Given the description of an element on the screen output the (x, y) to click on. 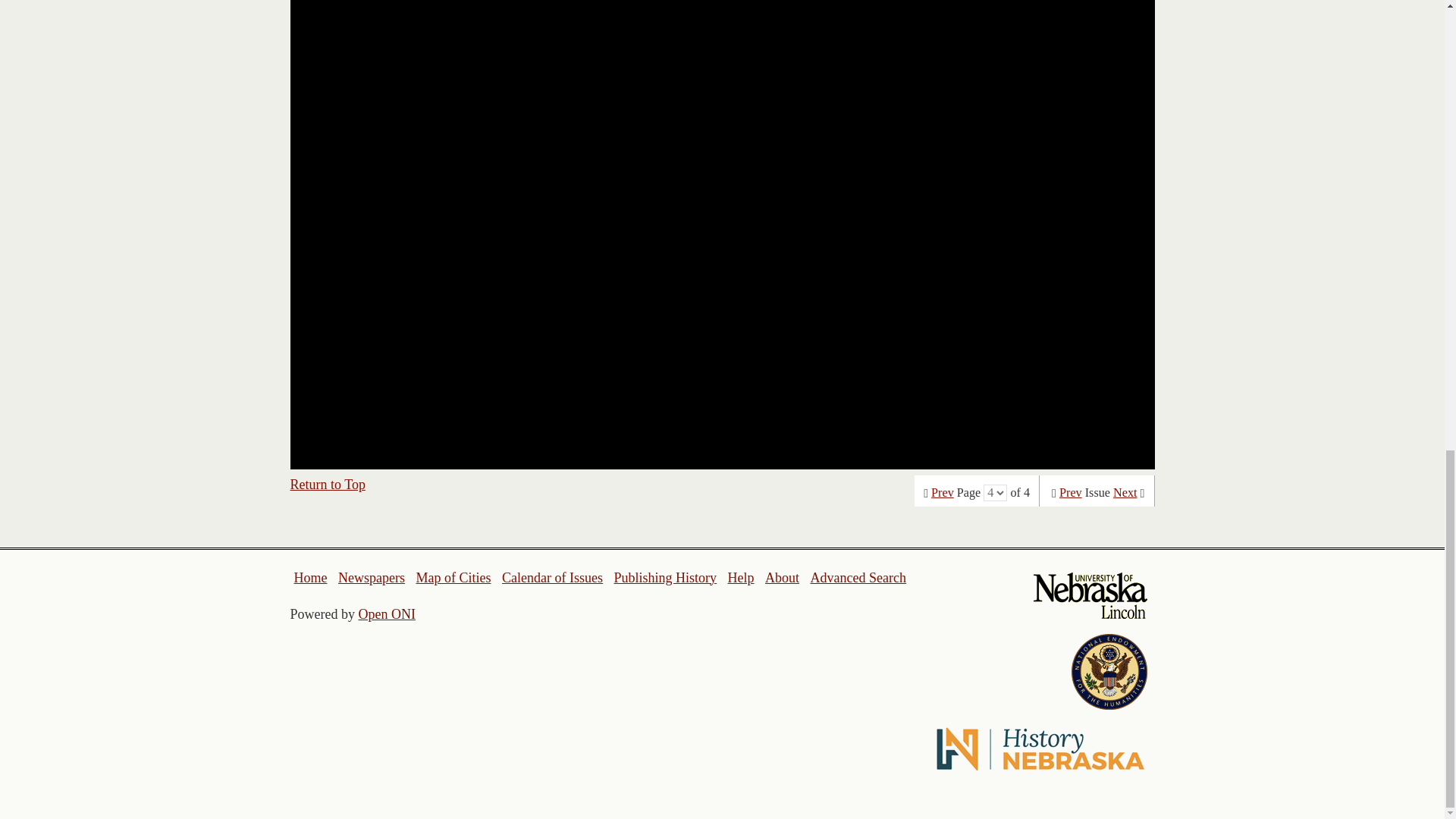
Advanced Search (857, 577)
Next (1125, 492)
Calendar of Issues (552, 577)
Prev (942, 492)
Newspapers (370, 577)
Open ONI (386, 613)
Map of Cities (452, 577)
About (782, 577)
Help (740, 577)
Prev (1070, 492)
Home (310, 577)
Return to Top (327, 484)
Publishing History (664, 577)
